Given the description of an element on the screen output the (x, y) to click on. 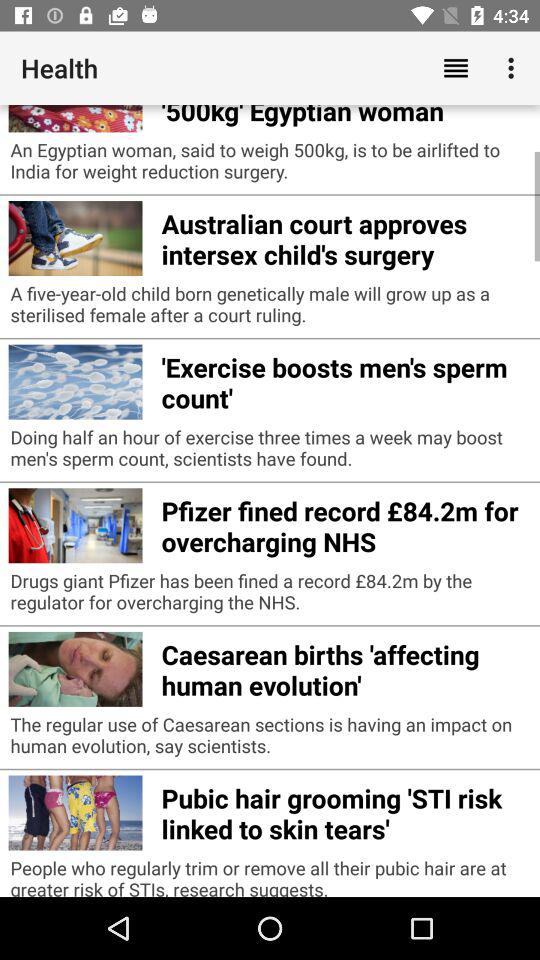
turn on the item below drugs giant pfizer icon (345, 667)
